Given the description of an element on the screen output the (x, y) to click on. 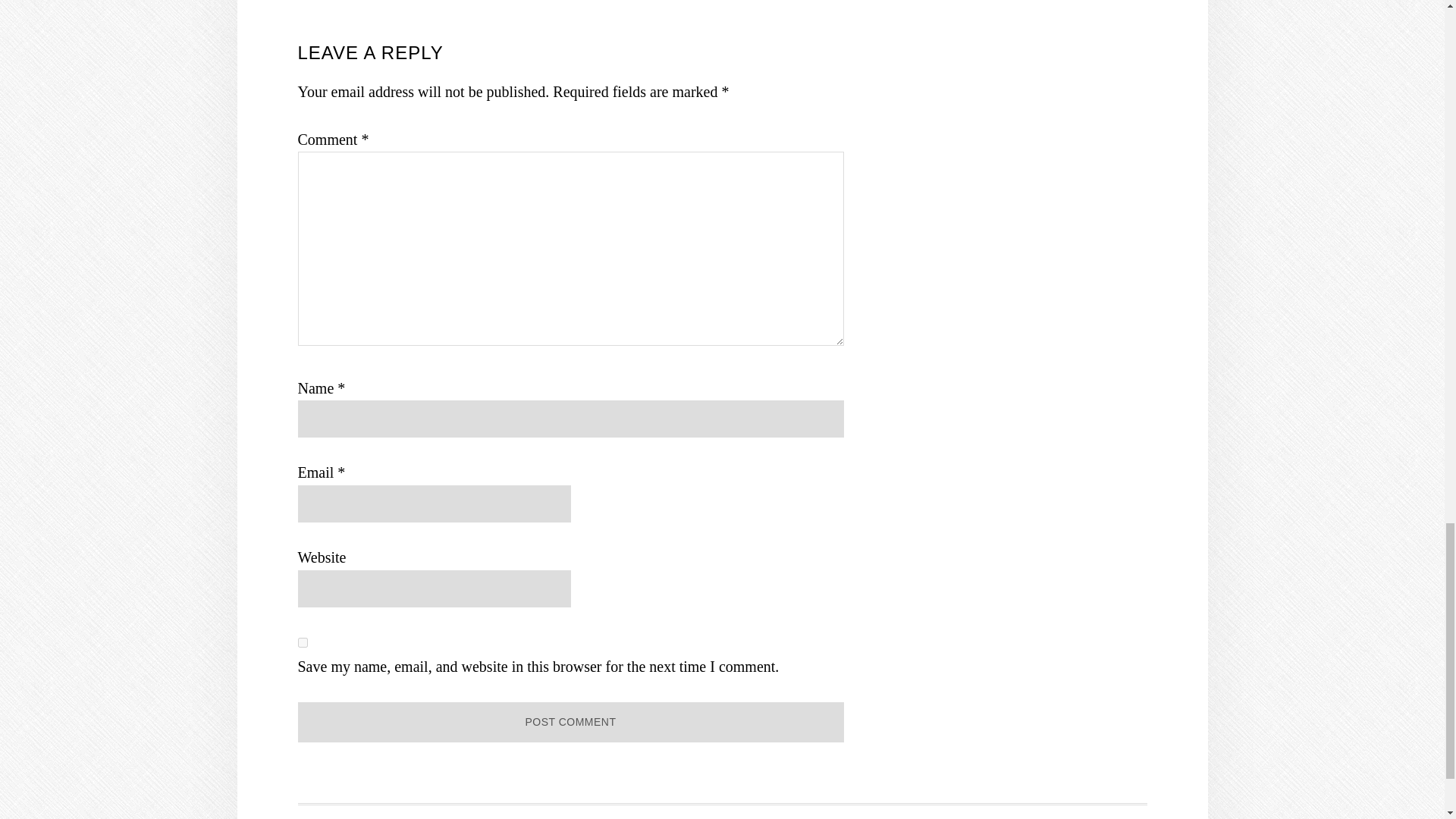
Post Comment (570, 721)
yes (302, 642)
Post Comment (570, 721)
